Given the description of an element on the screen output the (x, y) to click on. 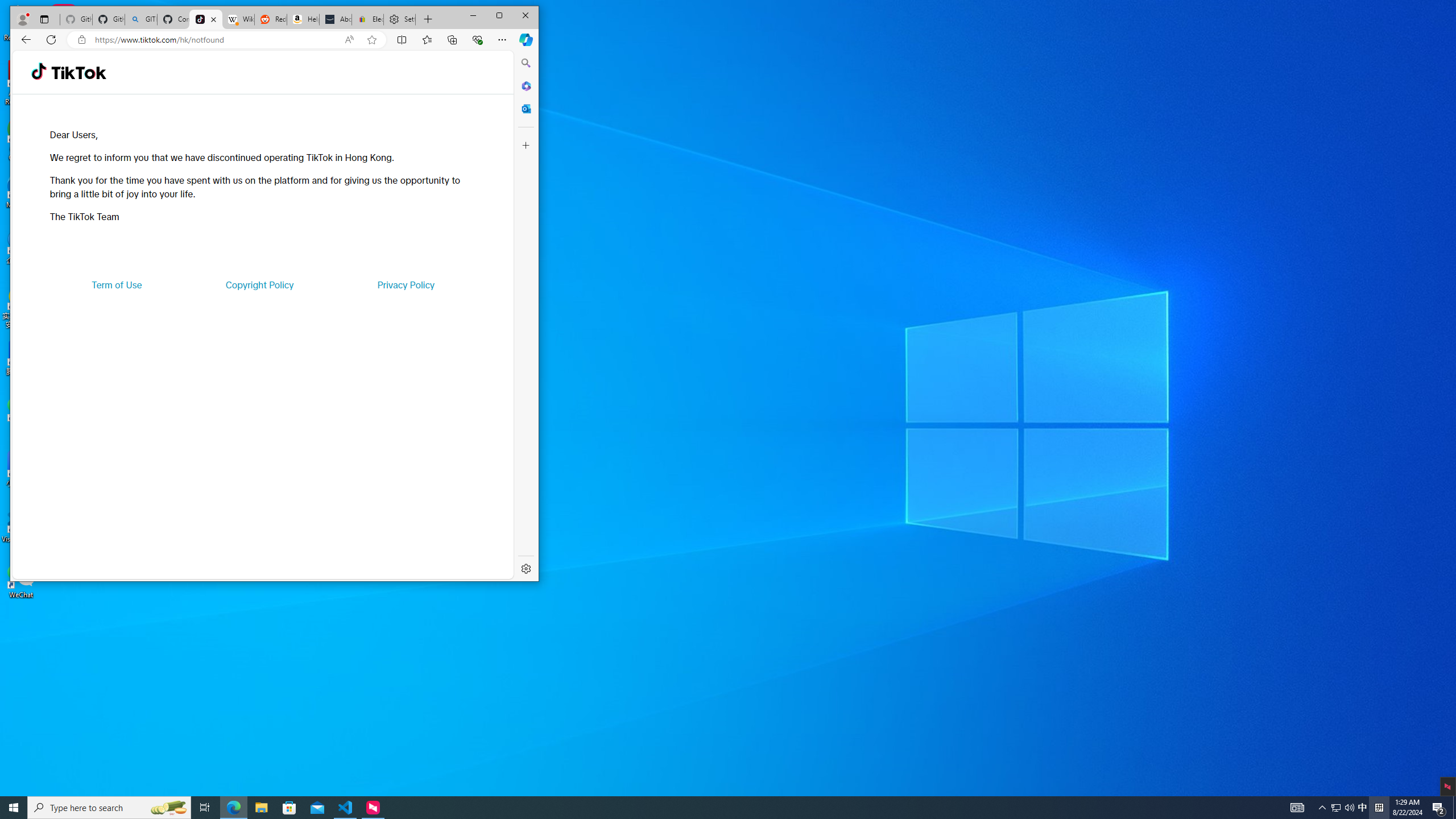
GITHUB - Search (140, 19)
Help & Contact Us - Amazon Customer Service (303, 19)
Copyright Policy (259, 284)
Visual Studio Code - 1 running window (345, 807)
Maximize (499, 15)
About Amazon (335, 19)
Reddit - Dive into anything (269, 19)
